Given the description of an element on the screen output the (x, y) to click on. 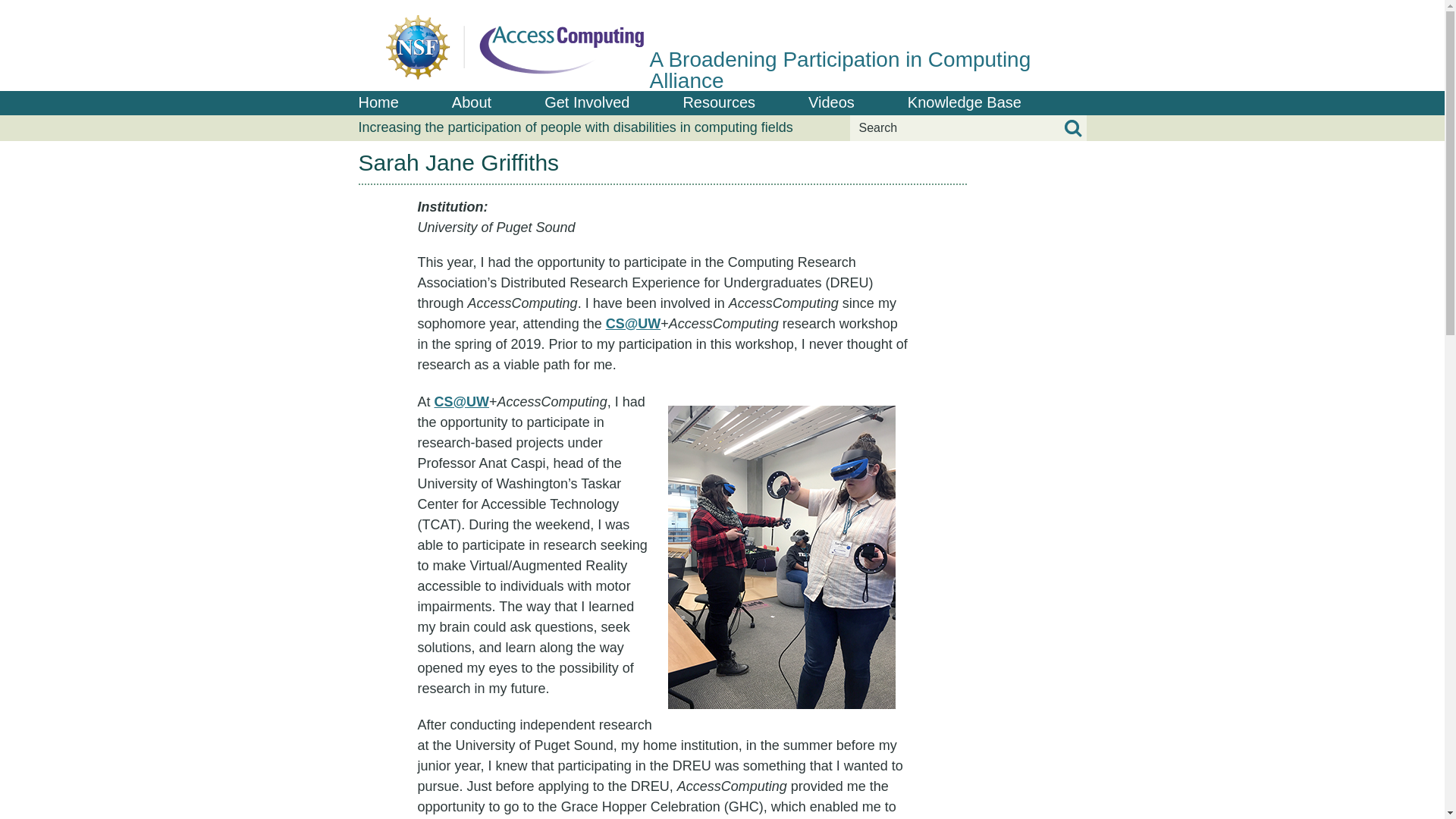
Home (722, 45)
Home (377, 103)
My DREU Experience.jpg (781, 557)
Go (1072, 128)
Knowledge Base (964, 103)
Videos (831, 103)
About (471, 103)
Resources (718, 103)
All About DO-IT (471, 103)
Search (967, 127)
Get Involved (586, 103)
Enter the terms you wish to search for. (967, 127)
A Broadening Participation in Computing Alliance (722, 45)
Go (1072, 128)
